Given the description of an element on the screen output the (x, y) to click on. 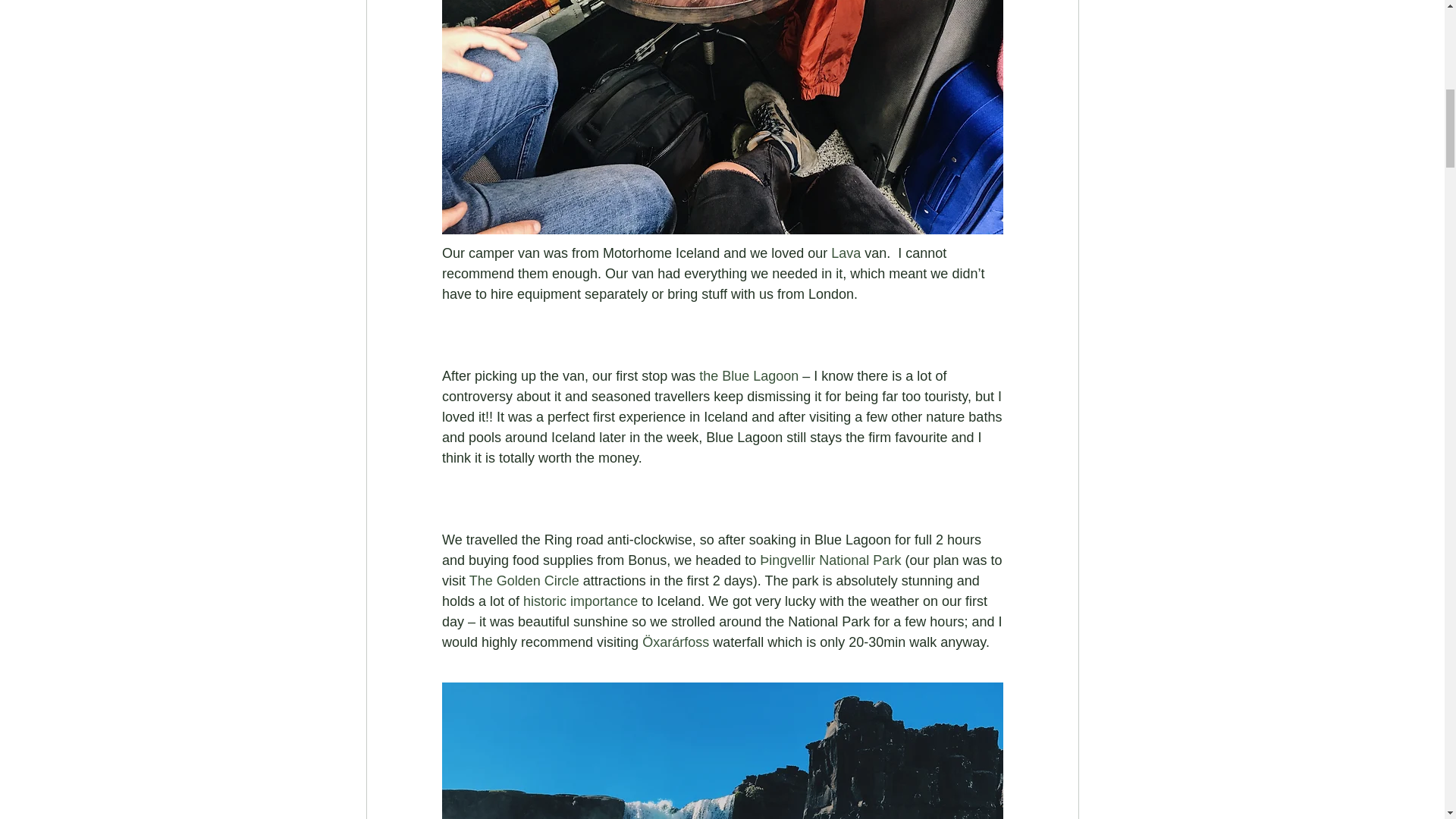
historic importance (579, 601)
the Blue Lagoon (747, 376)
Lava (845, 253)
The Golden Circle (523, 580)
